Given the description of an element on the screen output the (x, y) to click on. 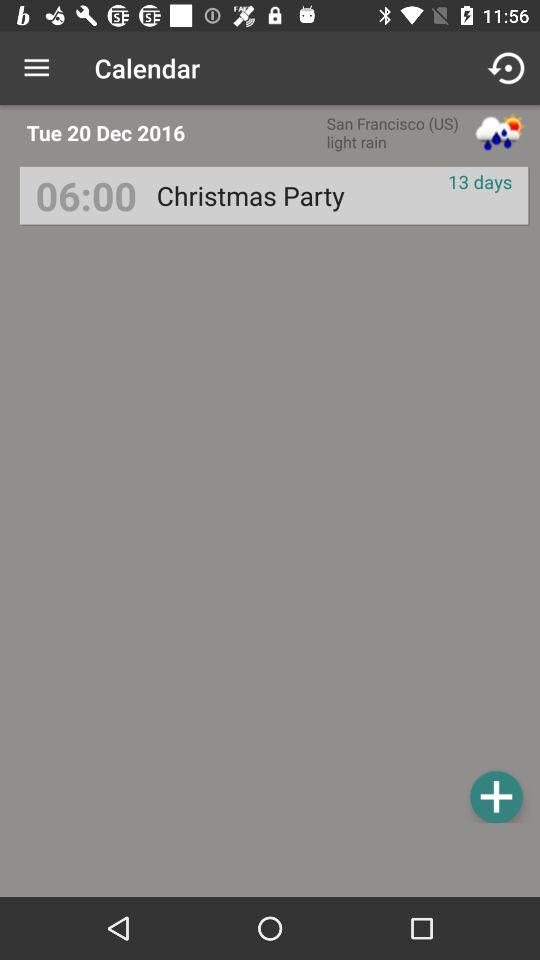
click the 06:00 (85, 195)
